Given the description of an element on the screen output the (x, y) to click on. 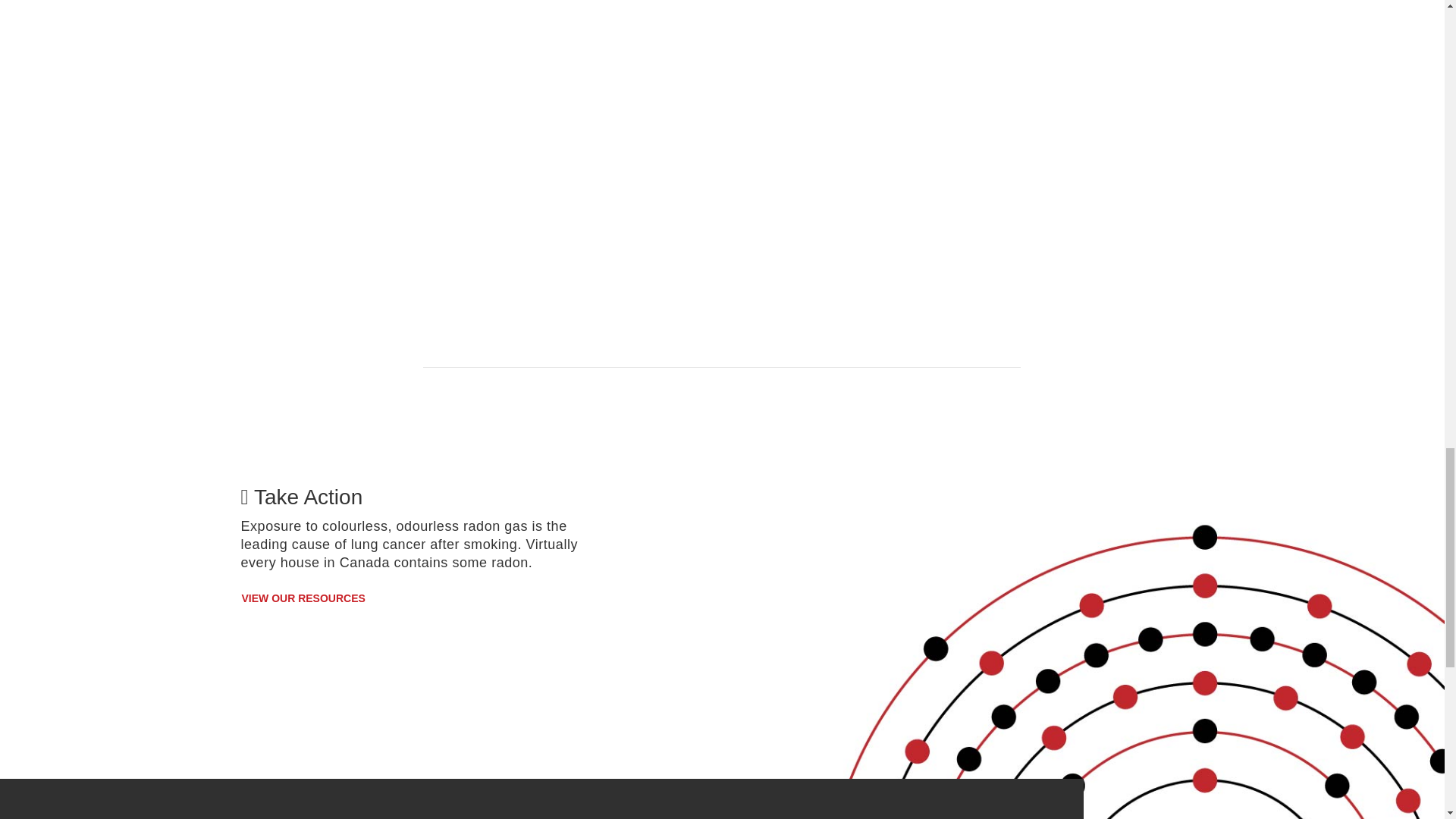
VIEW OUR RESOURCES (303, 598)
